Given the description of an element on the screen output the (x, y) to click on. 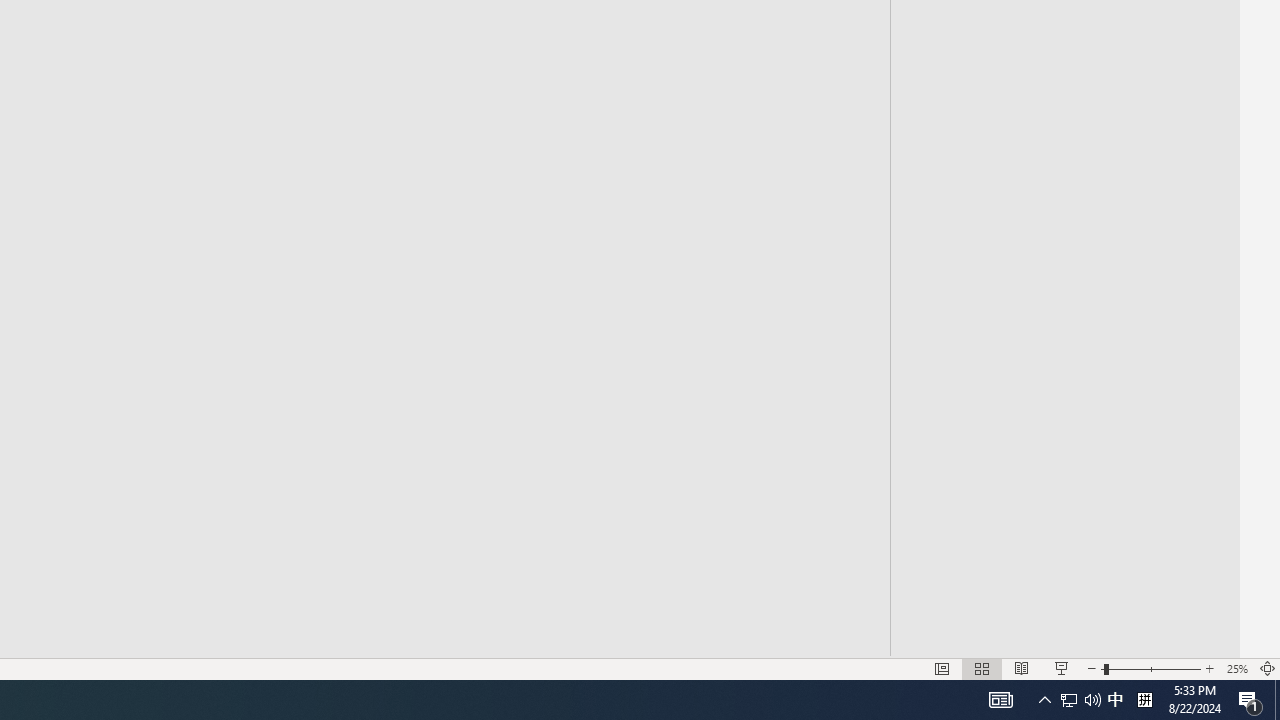
Zoom 25% (1236, 668)
